Given the description of an element on the screen output the (x, y) to click on. 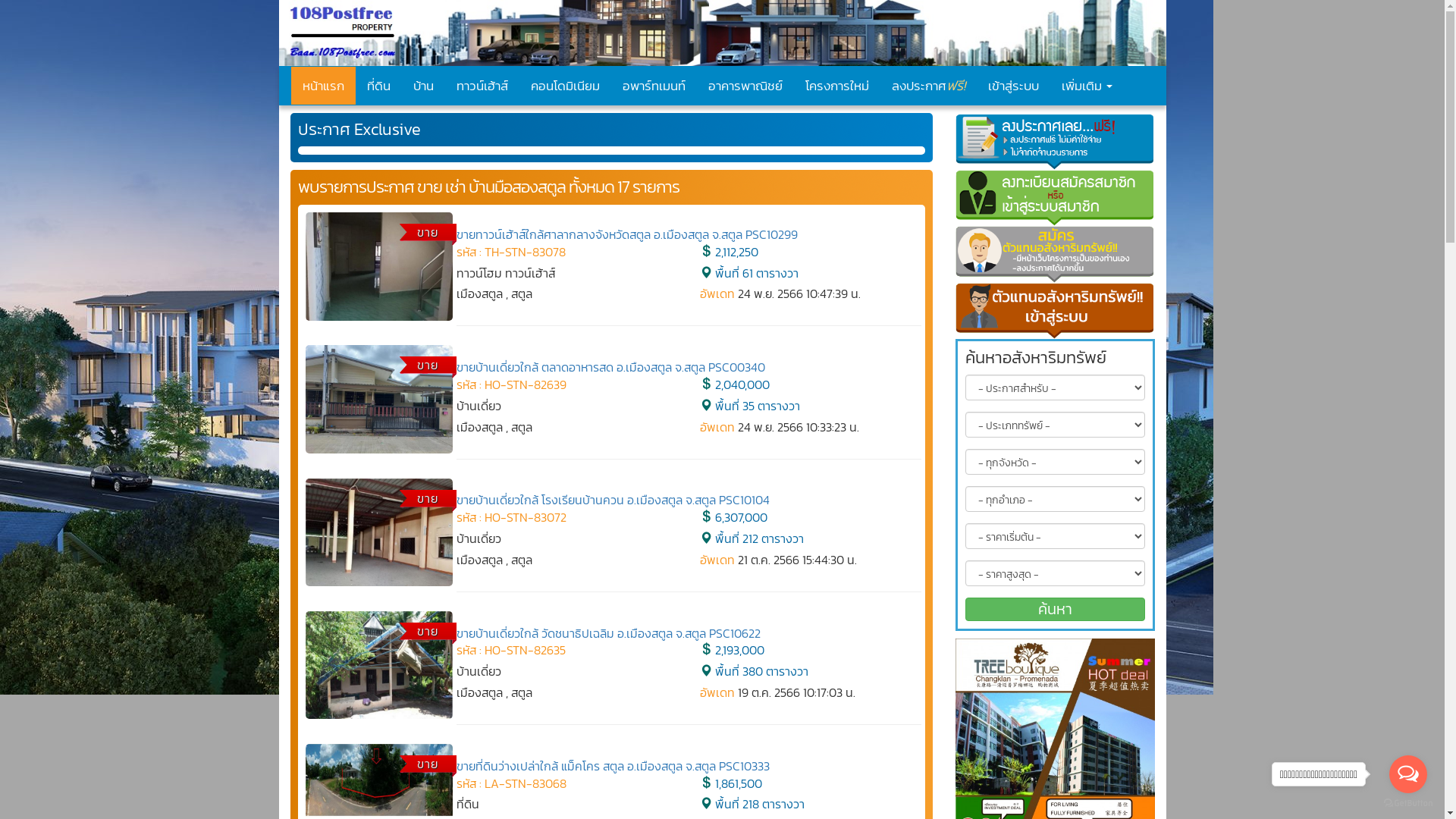
108postfree.com Element type: hover (722, 32)
